Given the description of an element on the screen output the (x, y) to click on. 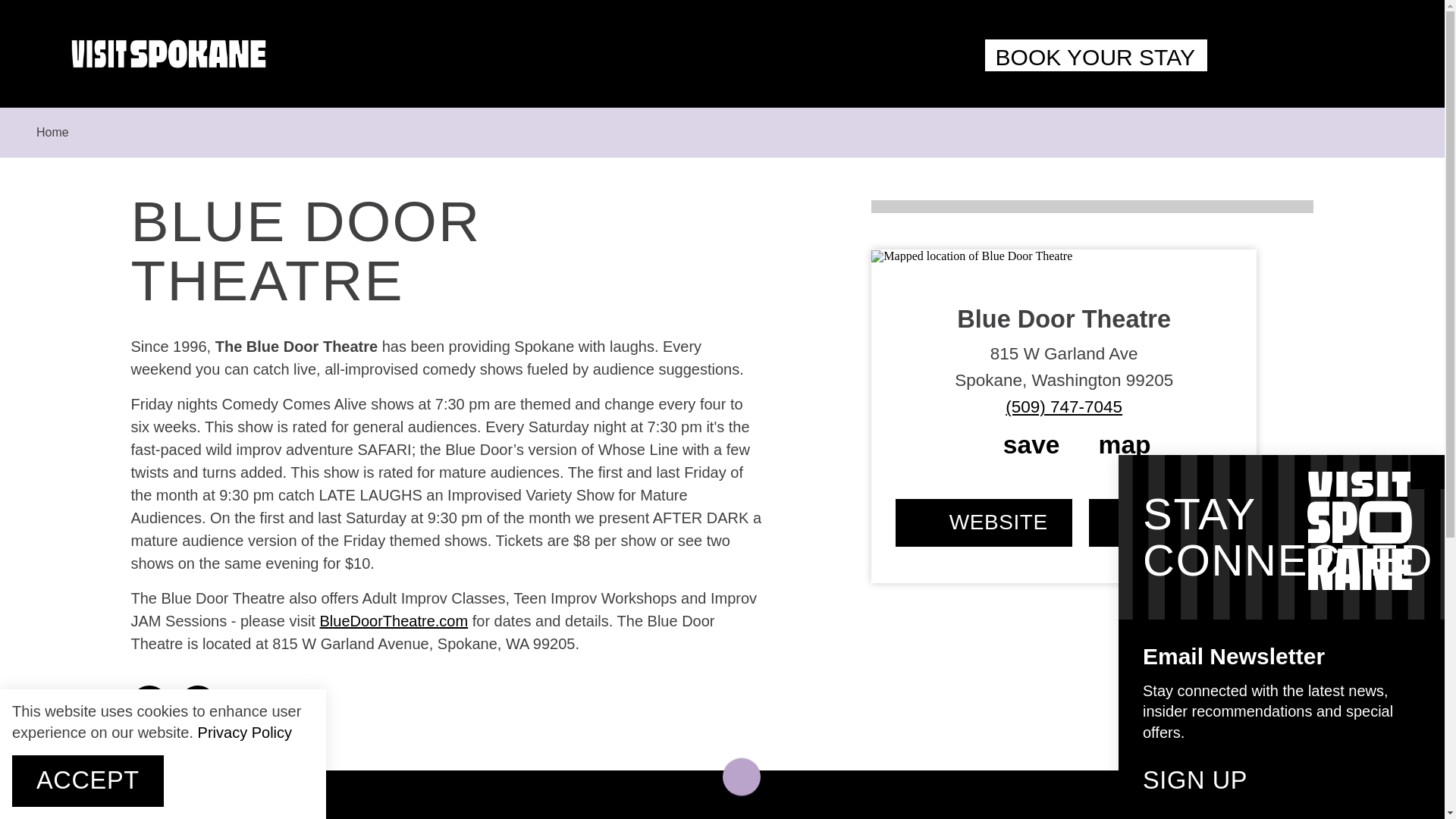
BOOK YOUR STAY (1096, 55)
EMAIL (1160, 522)
Things to Do (456, 816)
WEBSITE (983, 522)
Home (52, 132)
Skip to content (23, 18)
BlueDoorTheatre.com (392, 620)
save (1017, 444)
map (1114, 444)
